Given the description of an element on the screen output the (x, y) to click on. 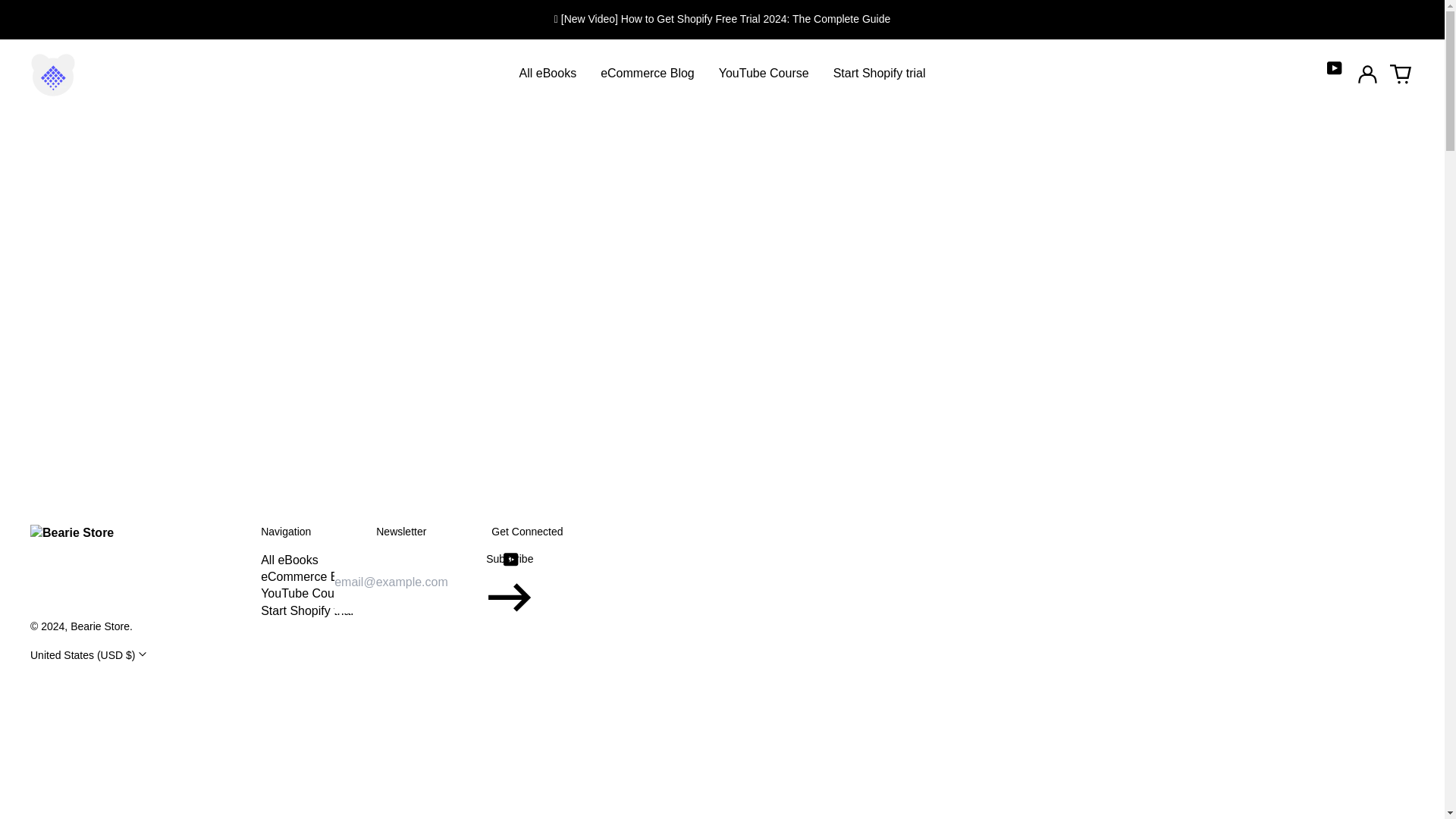
All eBooks (289, 559)
YouTube Course (763, 72)
Subscribe (509, 583)
Start Shopify trial (306, 610)
Bearie Store (99, 625)
Log in (1367, 73)
eCommerce Blog (307, 576)
All eBooks (547, 72)
Start Shopify trial (879, 72)
Youtube (510, 559)
YouTube Course (305, 593)
eCommerce Blog (647, 72)
Youtube (1334, 68)
